Given the description of an element on the screen output the (x, y) to click on. 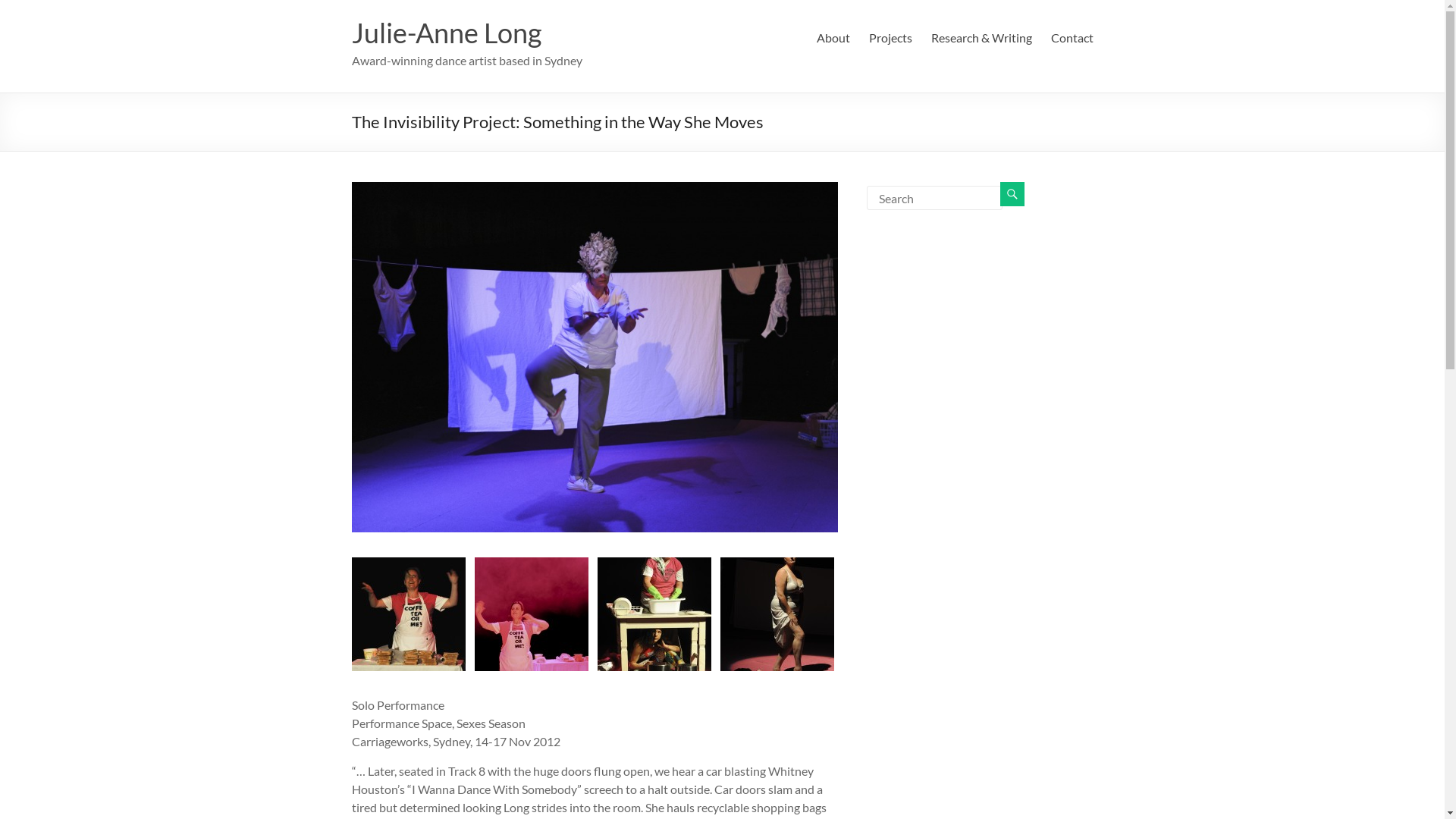
Projects Element type: text (890, 37)
Research & Writing Element type: text (981, 37)
Contact Element type: text (1072, 37)
About Element type: text (832, 37)
Julie-Anne Long Element type: text (446, 32)
